Given the description of an element on the screen output the (x, y) to click on. 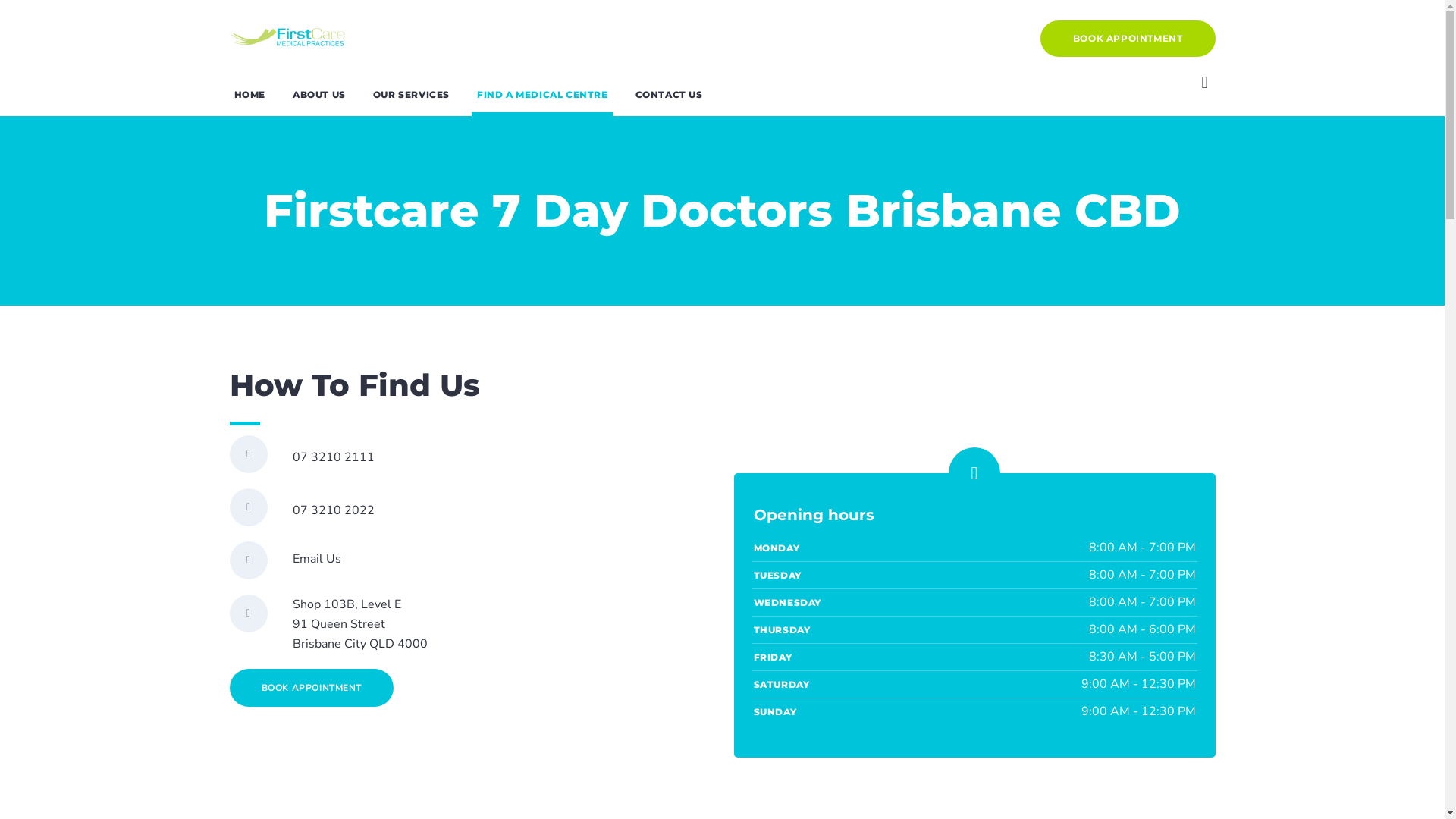
ABOUT US Element type: text (319, 94)
OUR SERVICES Element type: text (411, 94)
BOOK APPOINTMENT Element type: text (1127, 37)
Shop 103B, Level E
91 Queen Street
Brisbane City QLD 4000 Element type: text (359, 624)
HOME Element type: text (248, 94)
FIND A MEDICAL CENTRE Element type: text (542, 94)
Email Us Element type: text (316, 558)
CONTACT US Element type: text (668, 94)
BOOK APPOINTMENT Element type: text (311, 687)
